Given the description of an element on the screen output the (x, y) to click on. 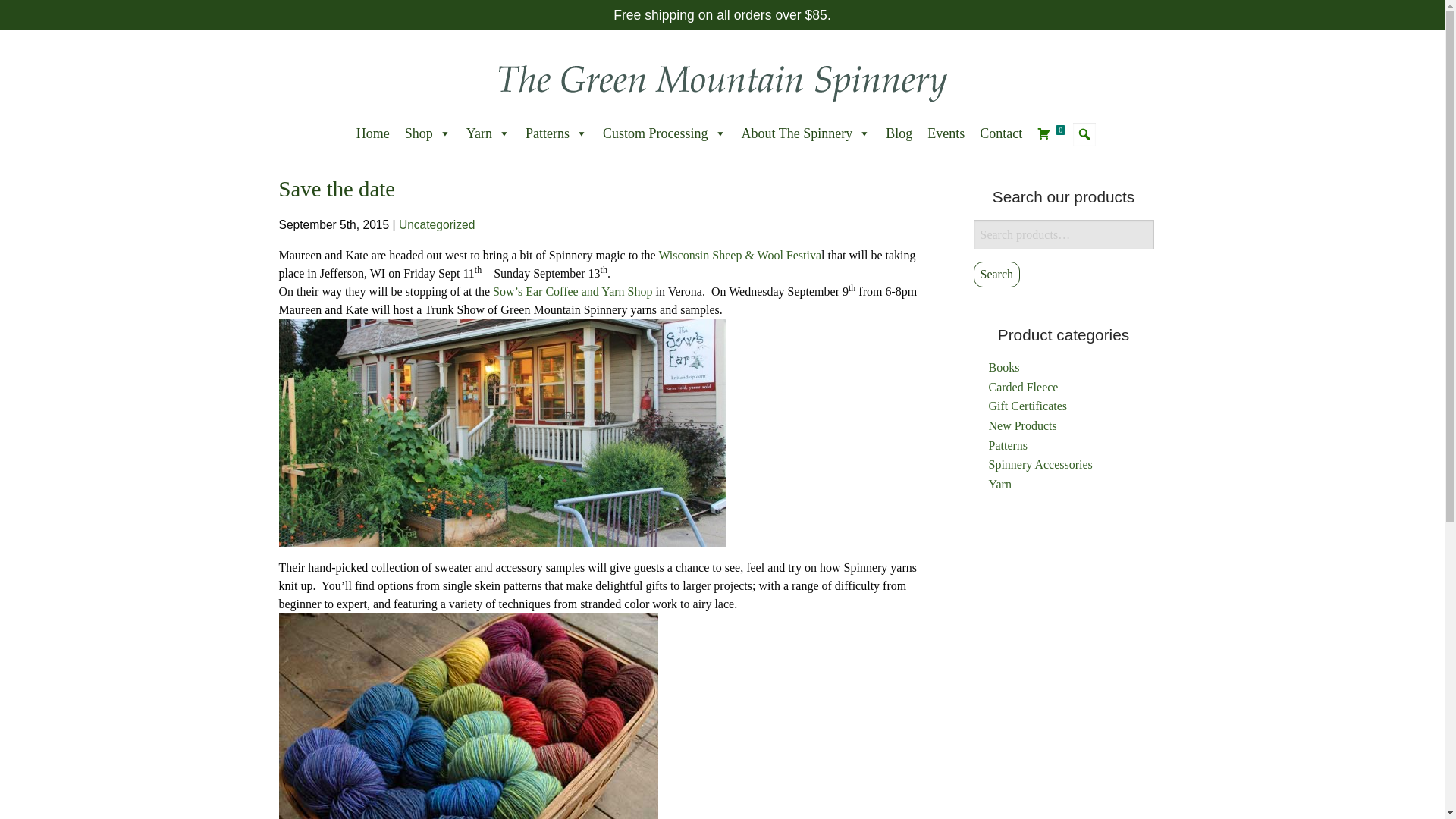
Shop (427, 132)
Home (720, 78)
Home (373, 132)
Home (373, 132)
logo (720, 79)
Yarn (488, 132)
Cart (1051, 132)
